Given the description of an element on the screen output the (x, y) to click on. 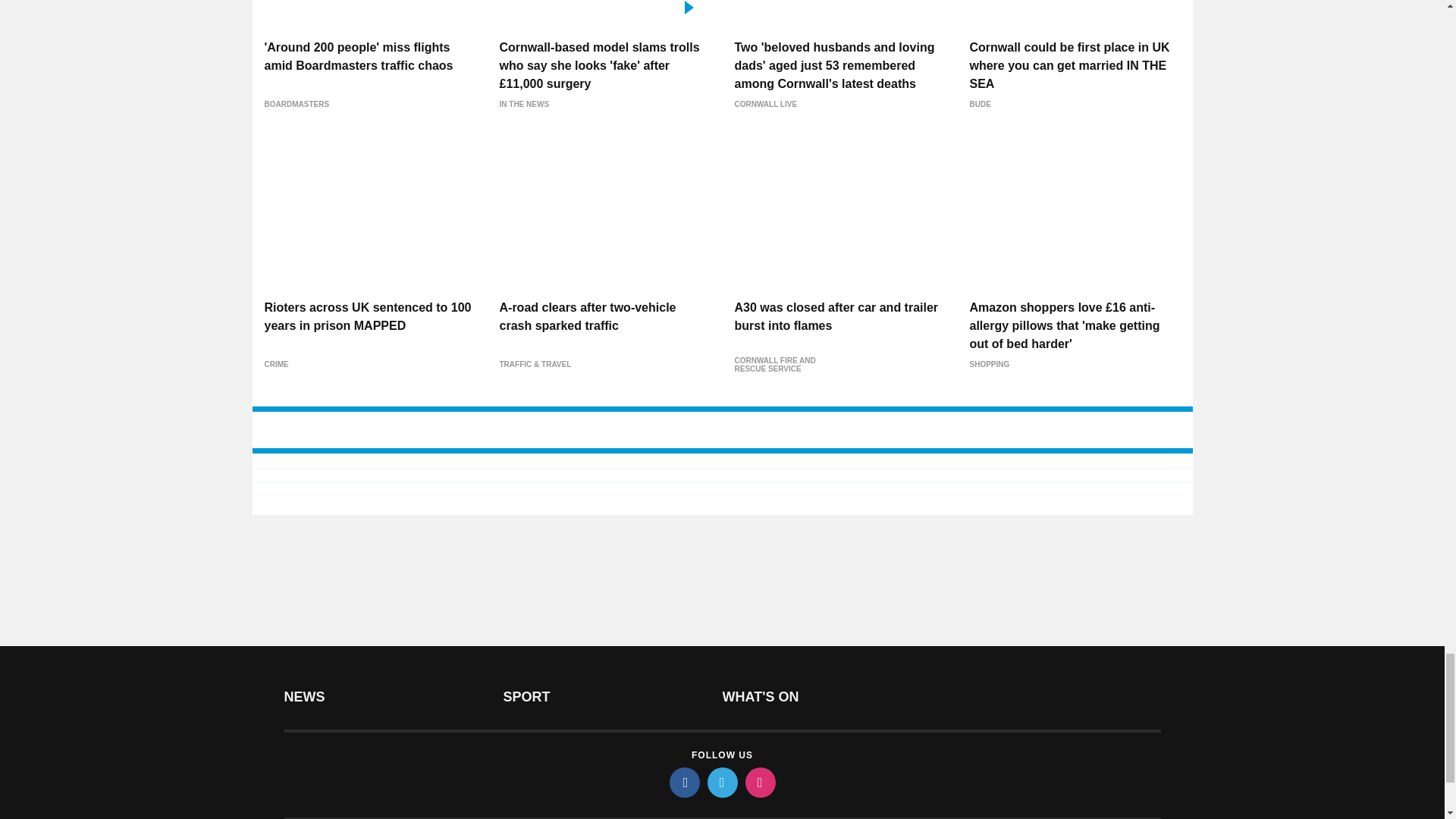
twitter (721, 782)
instagram (759, 782)
facebook (683, 782)
